Given the description of an element on the screen output the (x, y) to click on. 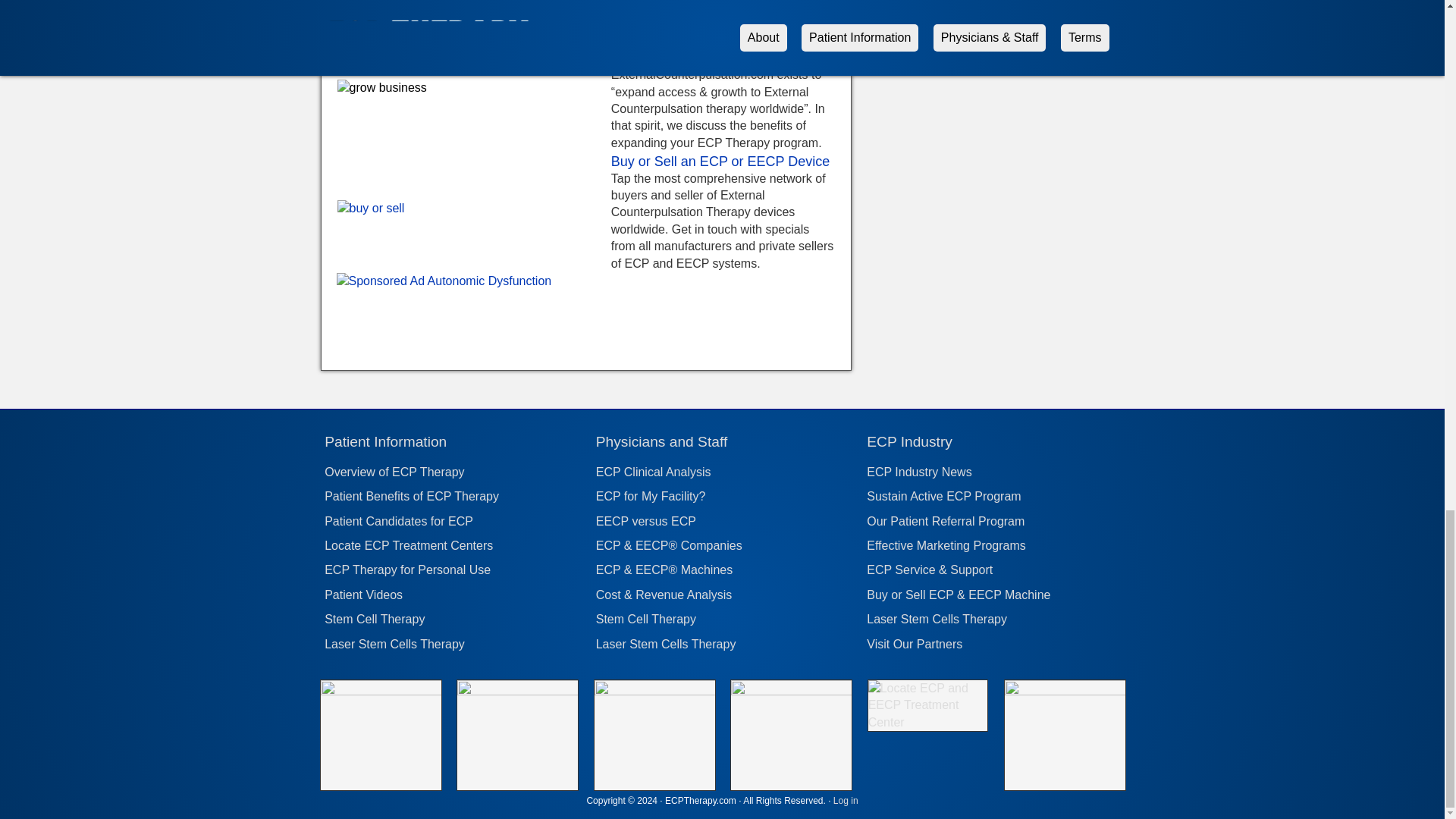
Stem Cell Therapy (374, 618)
Expand ECP EECP Program (707, 49)
Locate ECP Treatment Centers (453, 546)
Buy or Sell ECP or EECP Therapy machine (720, 160)
Patient Benefits of ECP Therapy (453, 497)
ECP Therapy for Personal Use (407, 569)
Overview of ECP Therapy (453, 473)
Patient Videos (453, 595)
ECP and EECP Product Reviews (517, 690)
ECP and EECP Companies (790, 690)
Patient Candidates for ECP (453, 522)
Buy or Sell an ECP or EECP Device (720, 160)
Why Expand your ECP Therapy Program (707, 49)
Patient Information (385, 441)
External Counterpulsation Therapy (381, 690)
